Given the description of an element on the screen output the (x, y) to click on. 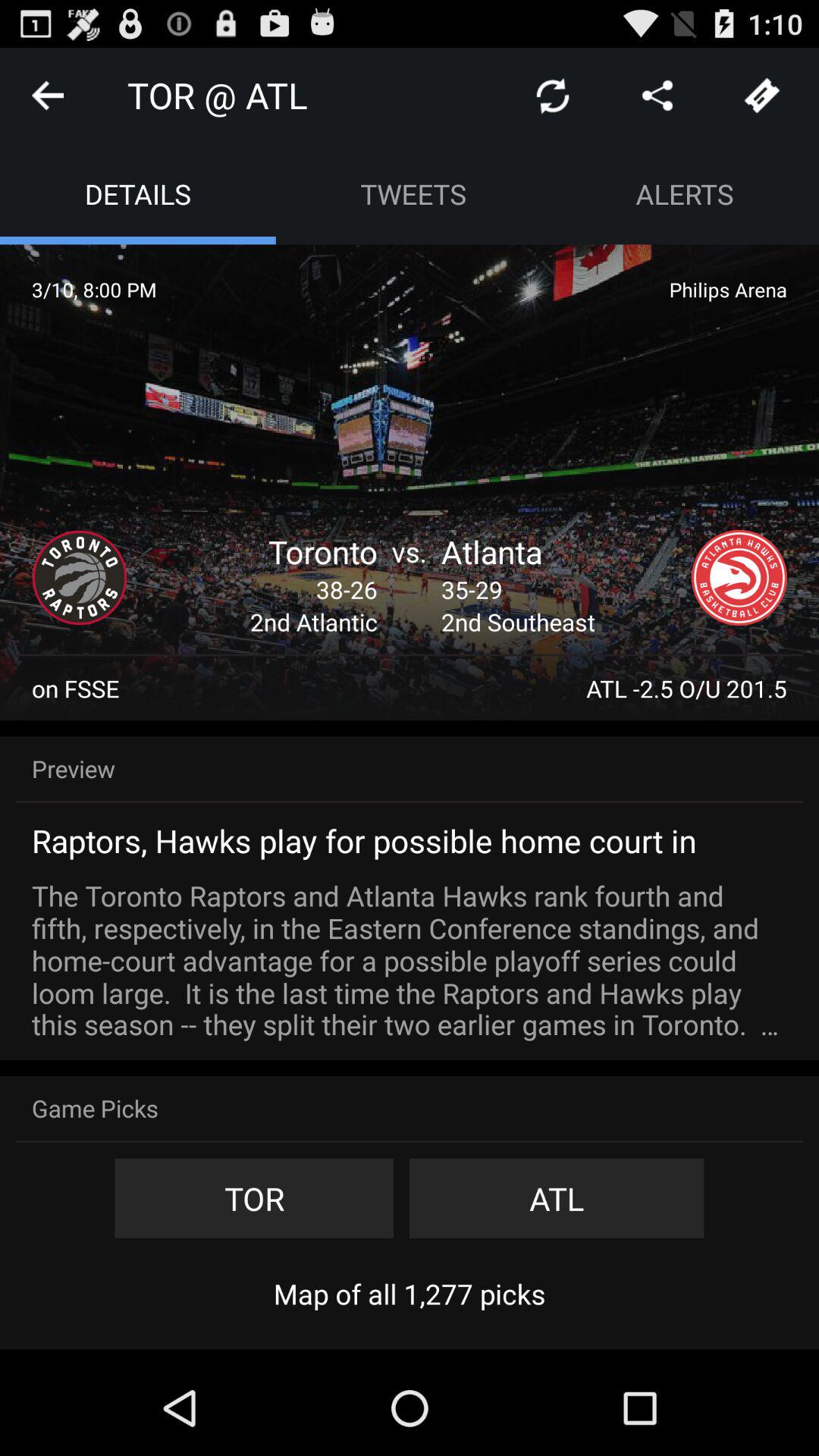
go back (47, 95)
